Given the description of an element on the screen output the (x, y) to click on. 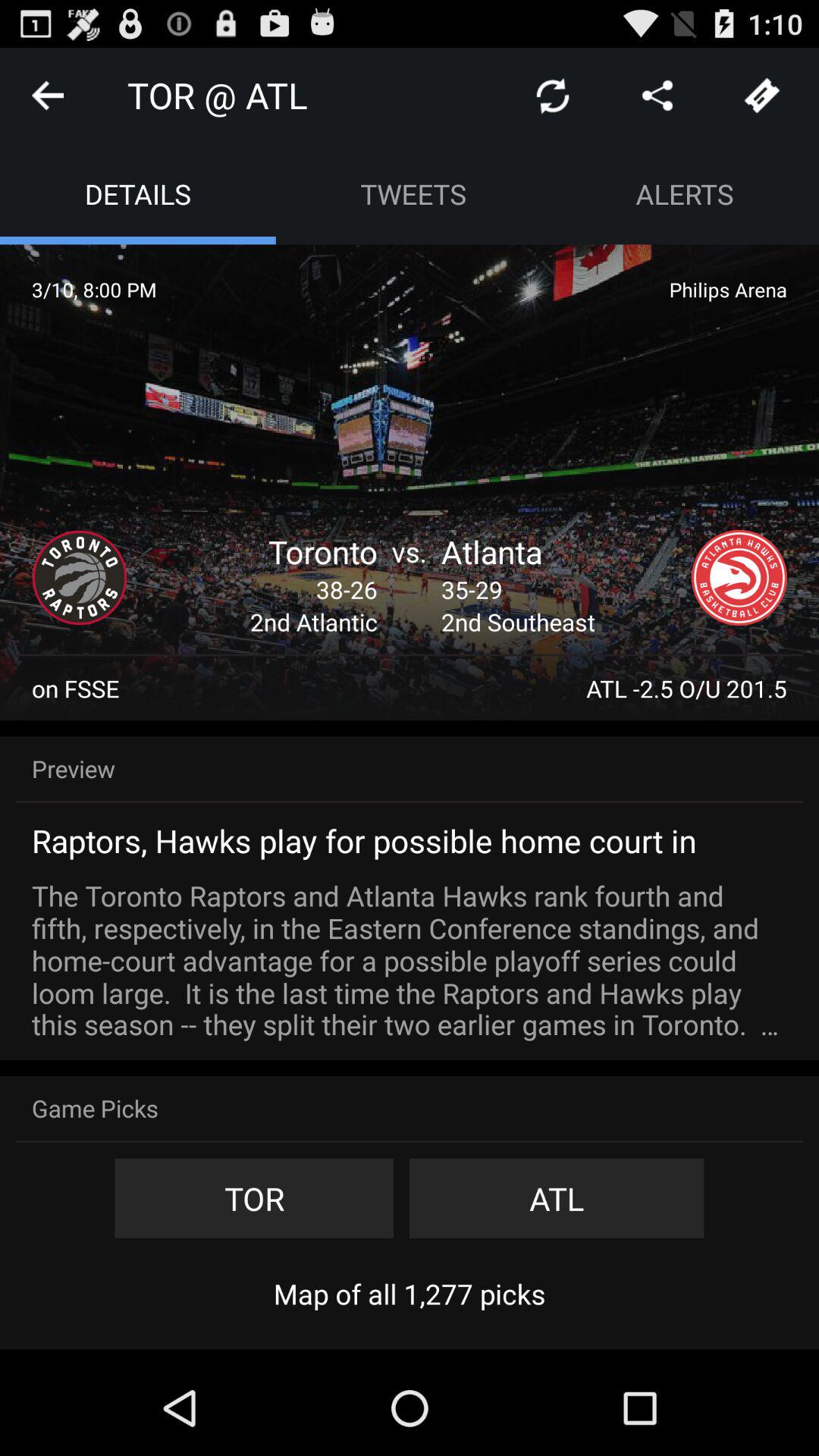
go back (47, 95)
